Given the description of an element on the screen output the (x, y) to click on. 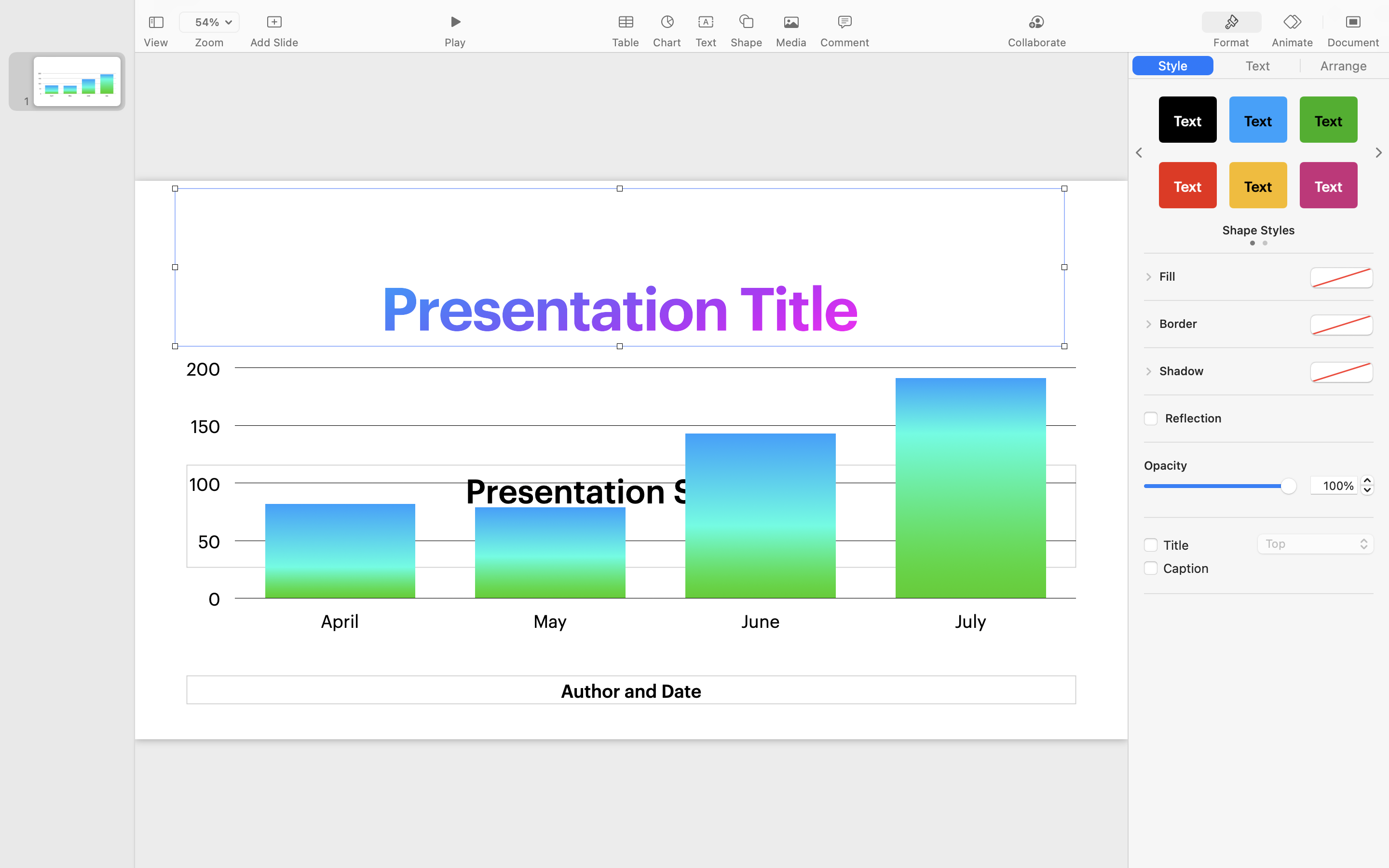
Zoom Element type: AXStaticText (208, 42)
Format Element type: AXStaticText (1230, 42)
View Element type: AXStaticText (155, 42)
Animate Element type: AXStaticText (1291, 42)
Untitled Element type: AXStaticText (735, 12)
